Given the description of an element on the screen output the (x, y) to click on. 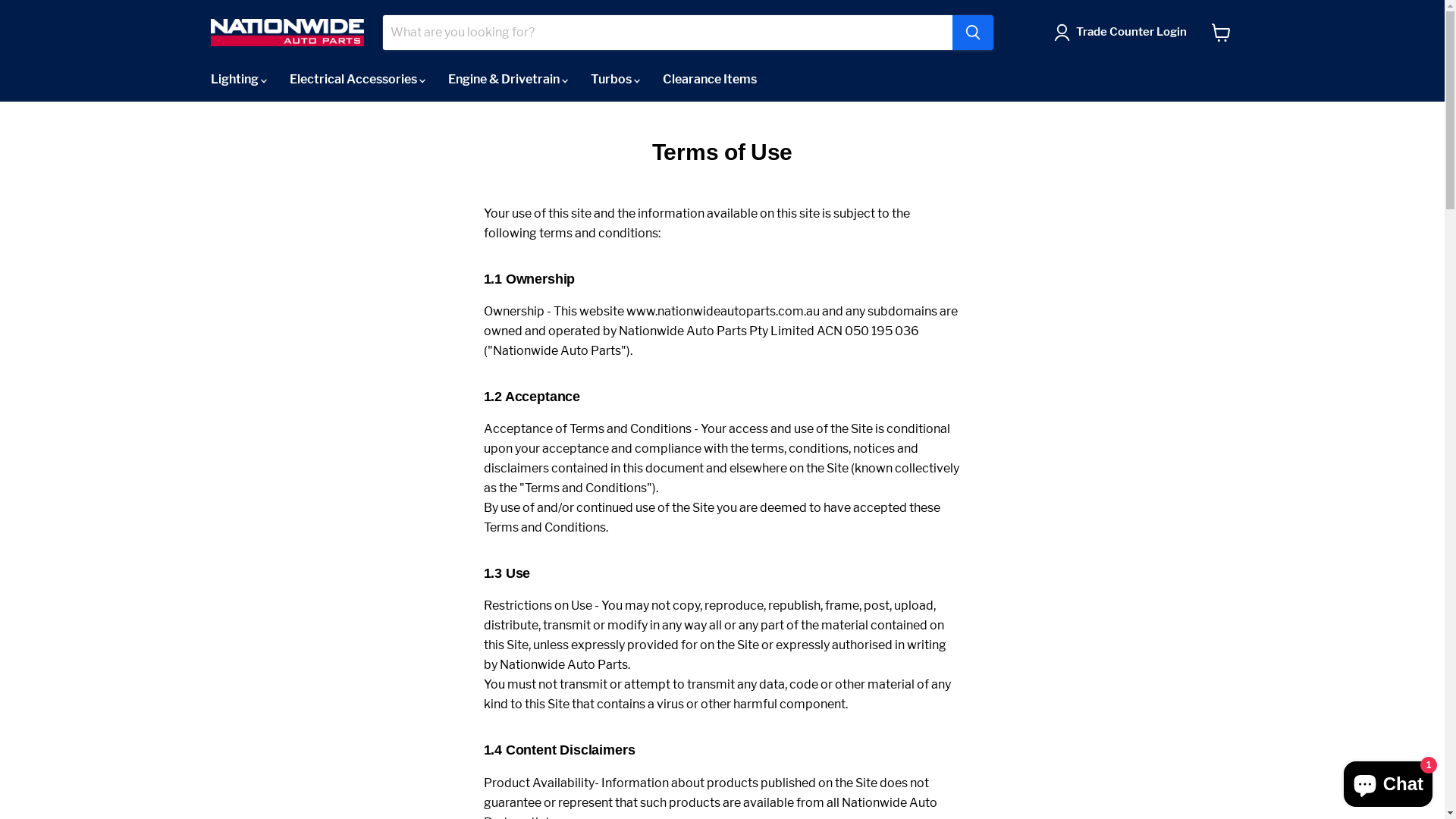
Engine & Drivetrain Element type: text (507, 79)
Trade Counter Login Element type: text (1130, 32)
View cart Element type: text (1221, 32)
Electrical Accessories Element type: text (356, 79)
Shopify online store chat Element type: hover (1388, 780)
Lighting Element type: text (237, 79)
Turbos Element type: text (615, 79)
Clearance Items Element type: text (708, 79)
